Given the description of an element on the screen output the (x, y) to click on. 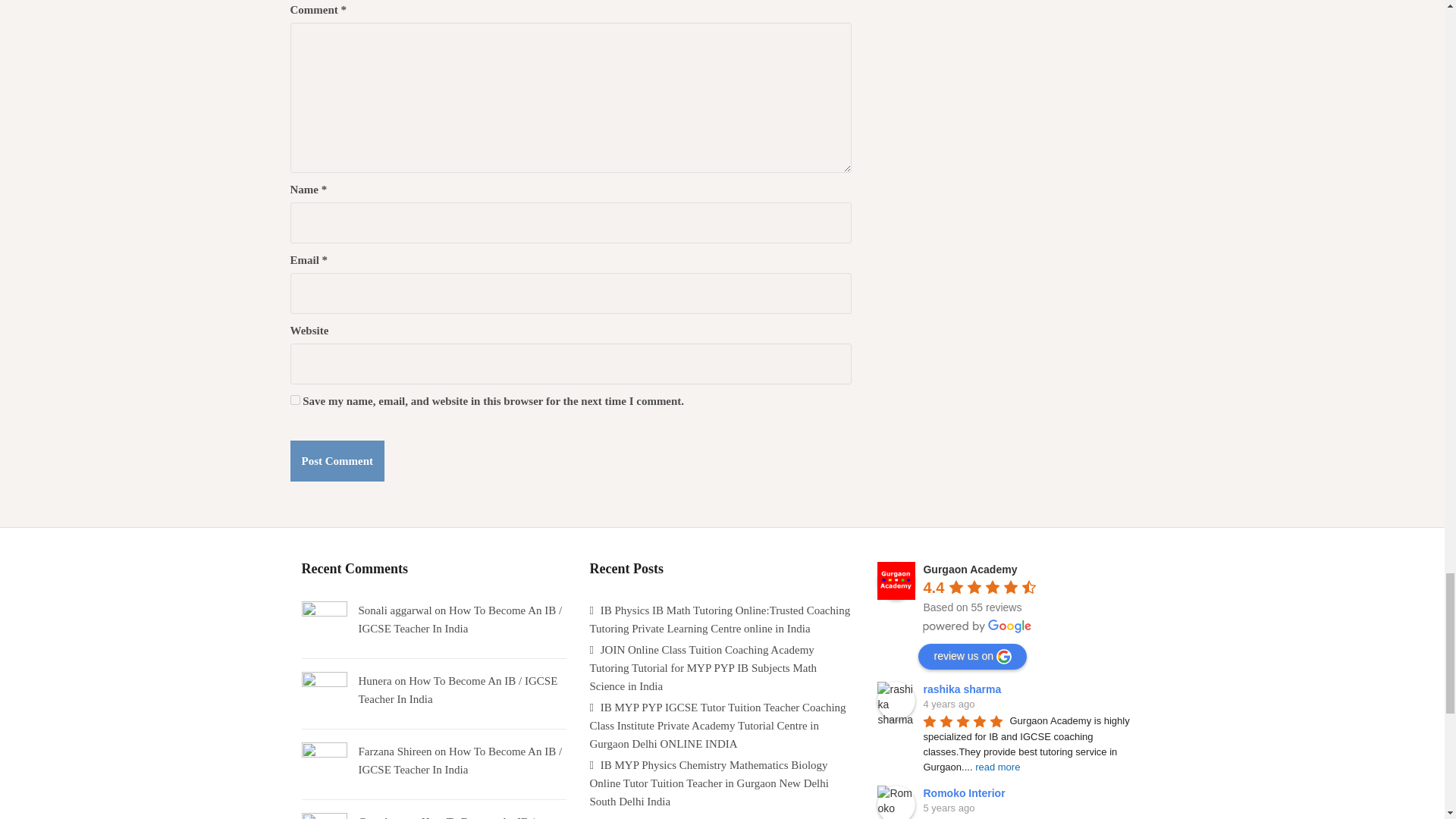
Post Comment (336, 460)
Gurgaon Academy (896, 580)
yes (294, 399)
